Given the description of an element on the screen output the (x, y) to click on. 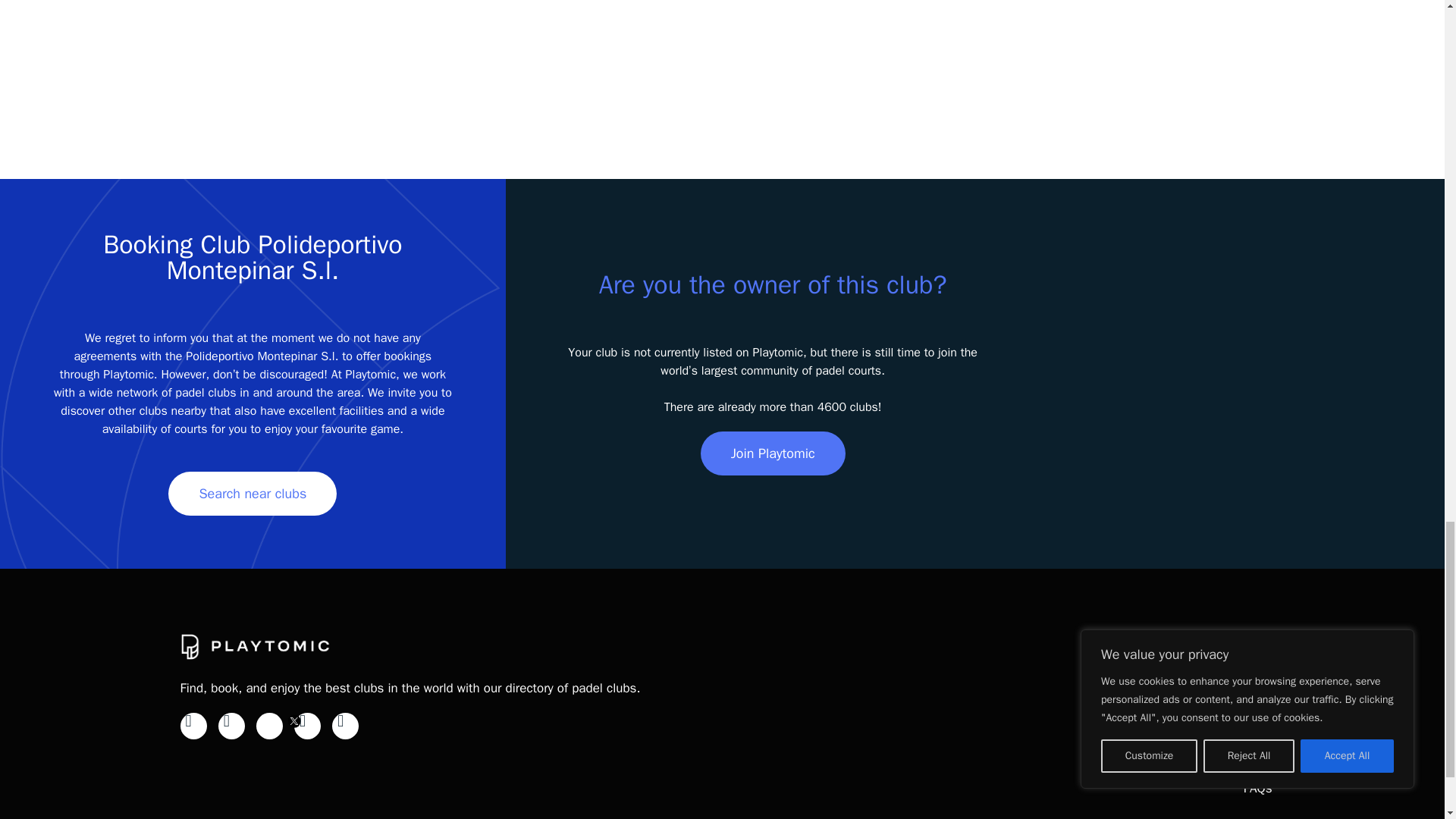
News (1256, 709)
Join Playtomic (772, 453)
Search near clubs (252, 493)
